Given the description of an element on the screen output the (x, y) to click on. 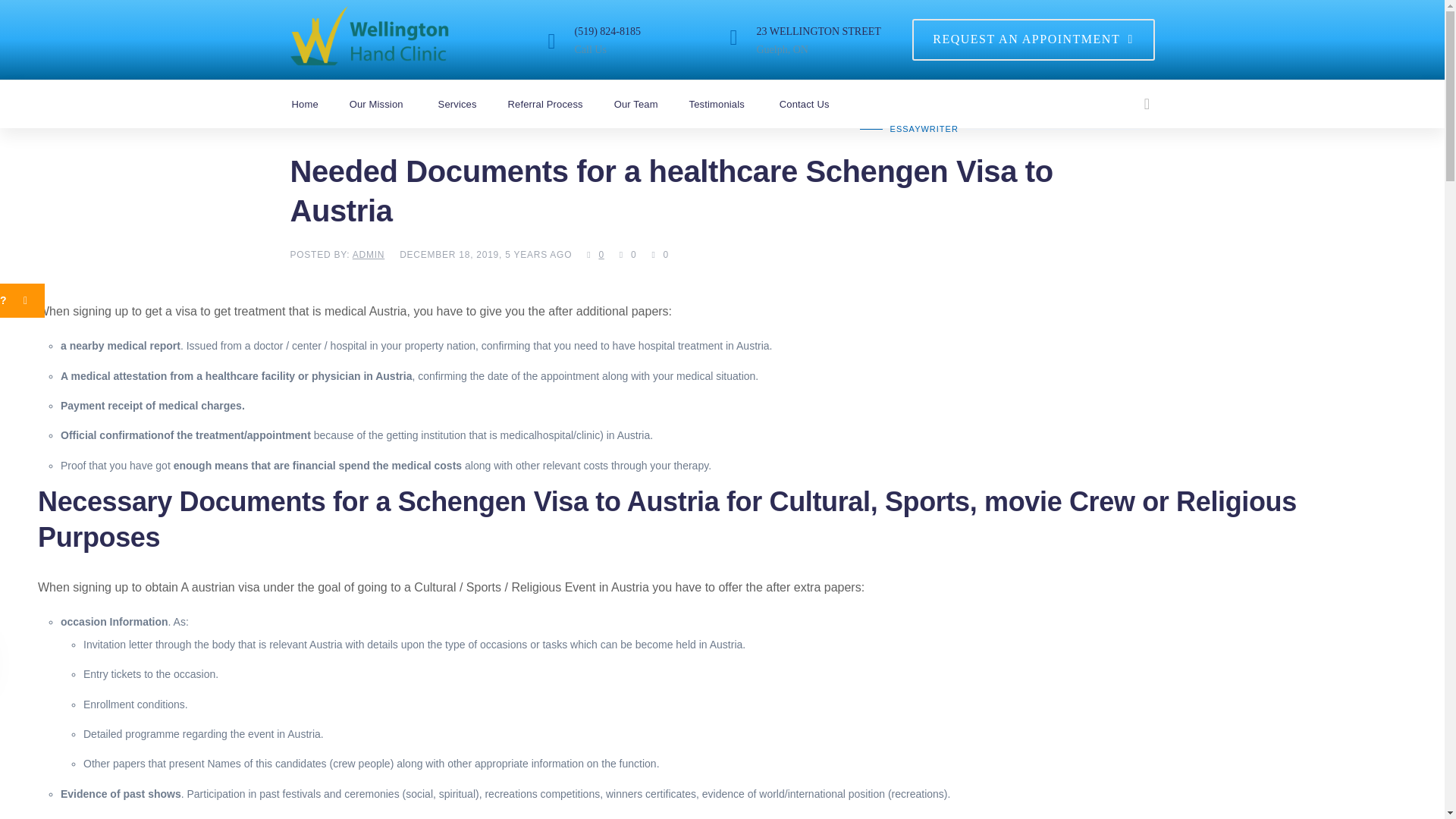
Services (469, 103)
REQUEST AN APPOINTMENT (1032, 39)
like (628, 253)
Home (318, 103)
Our Mission (391, 103)
